Given the description of an element on the screen output the (x, y) to click on. 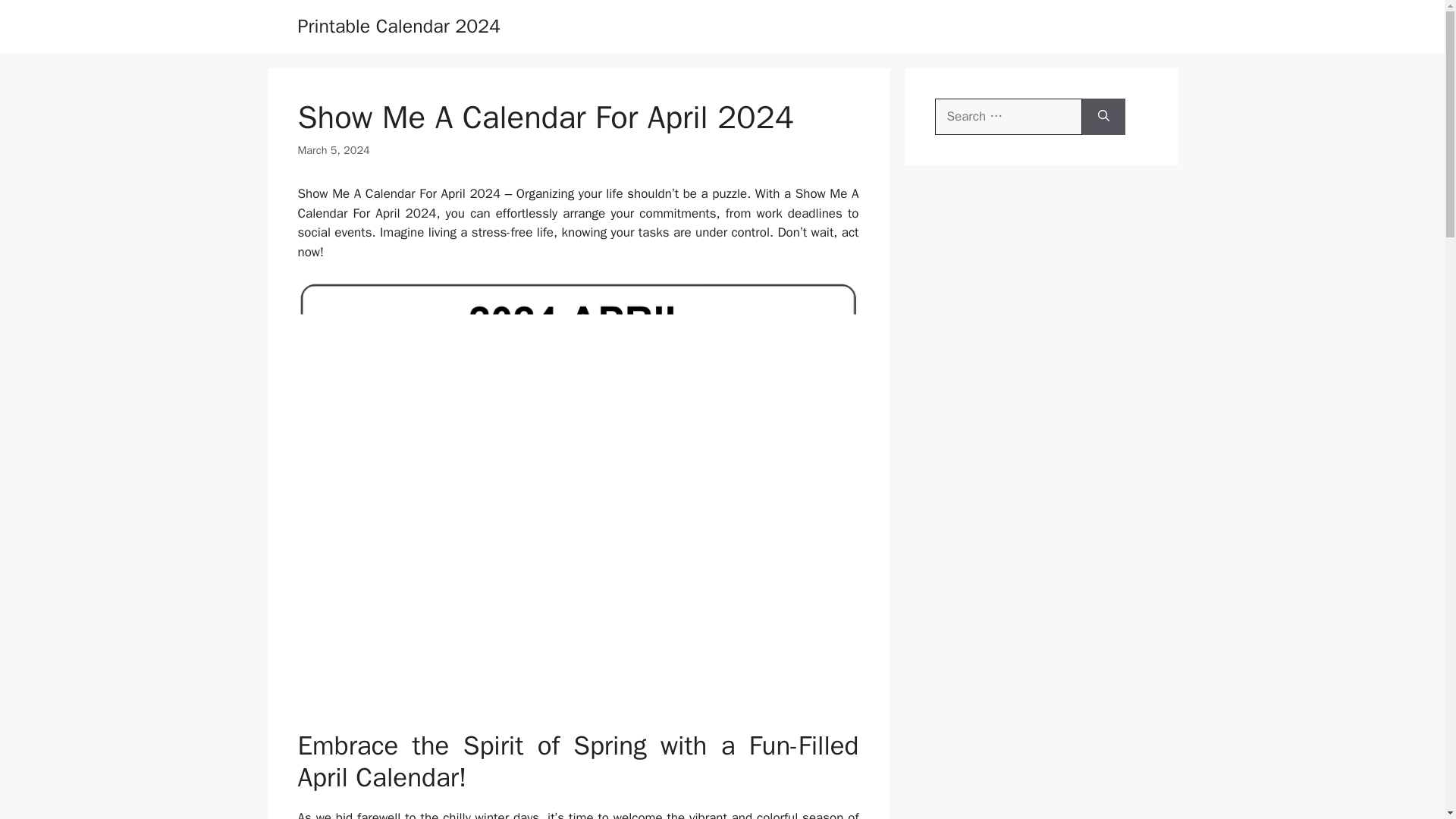
Printable Calendar 2024 (398, 25)
Search for: (1007, 116)
